Given the description of an element on the screen output the (x, y) to click on. 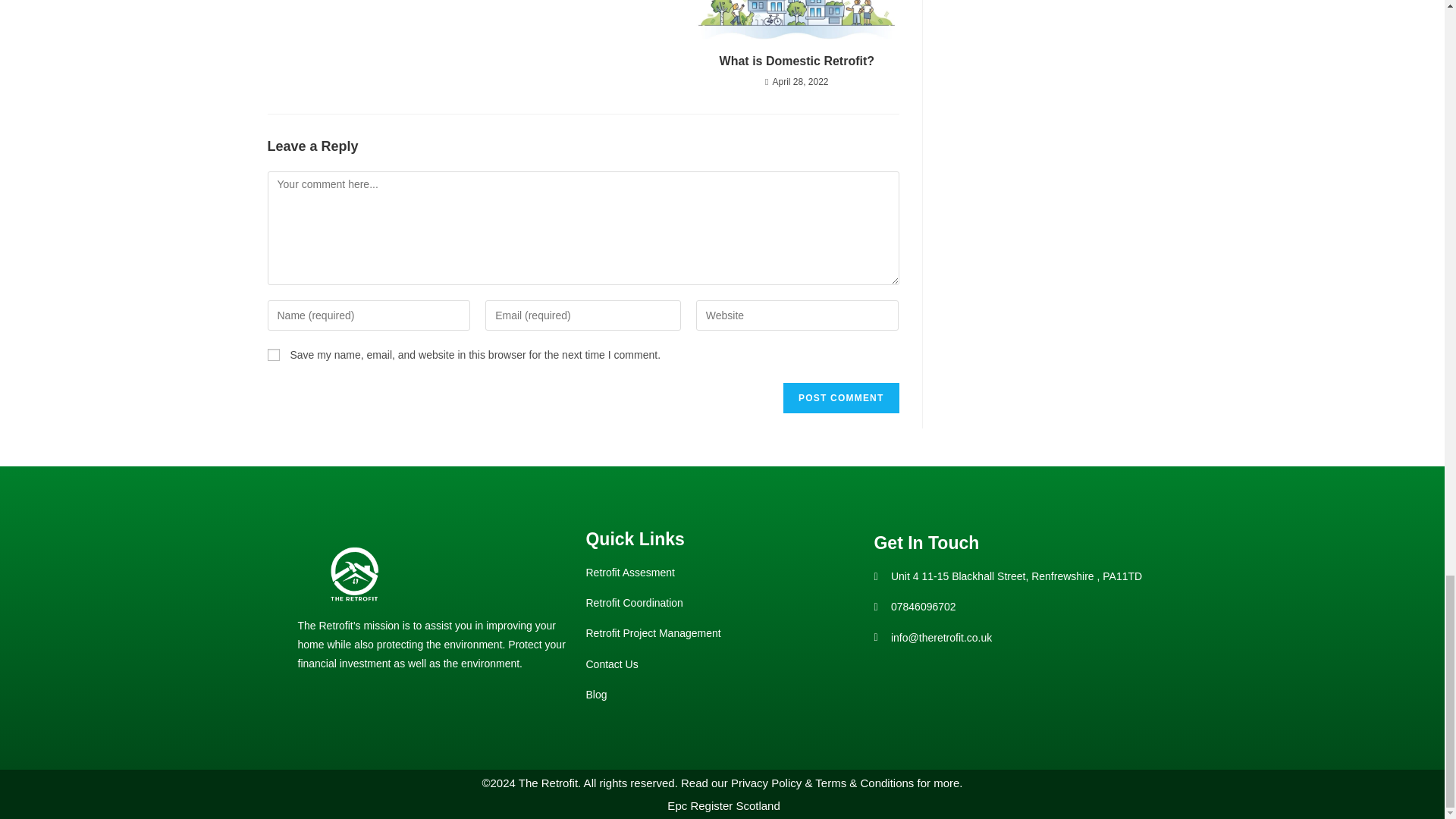
Contact Us (722, 664)
What is Domestic Retrofit? (796, 61)
07846096702 (1010, 606)
Post Comment (840, 398)
yes (272, 354)
Retrofit Project Management (722, 633)
Blog (722, 694)
Retrofit Coordination (722, 602)
Retrofit Assesment (722, 572)
Post Comment (840, 398)
Unit 4 11-15 Blackhall Street, Renfrewshire , PA11TD (1010, 576)
